Given the description of an element on the screen output the (x, y) to click on. 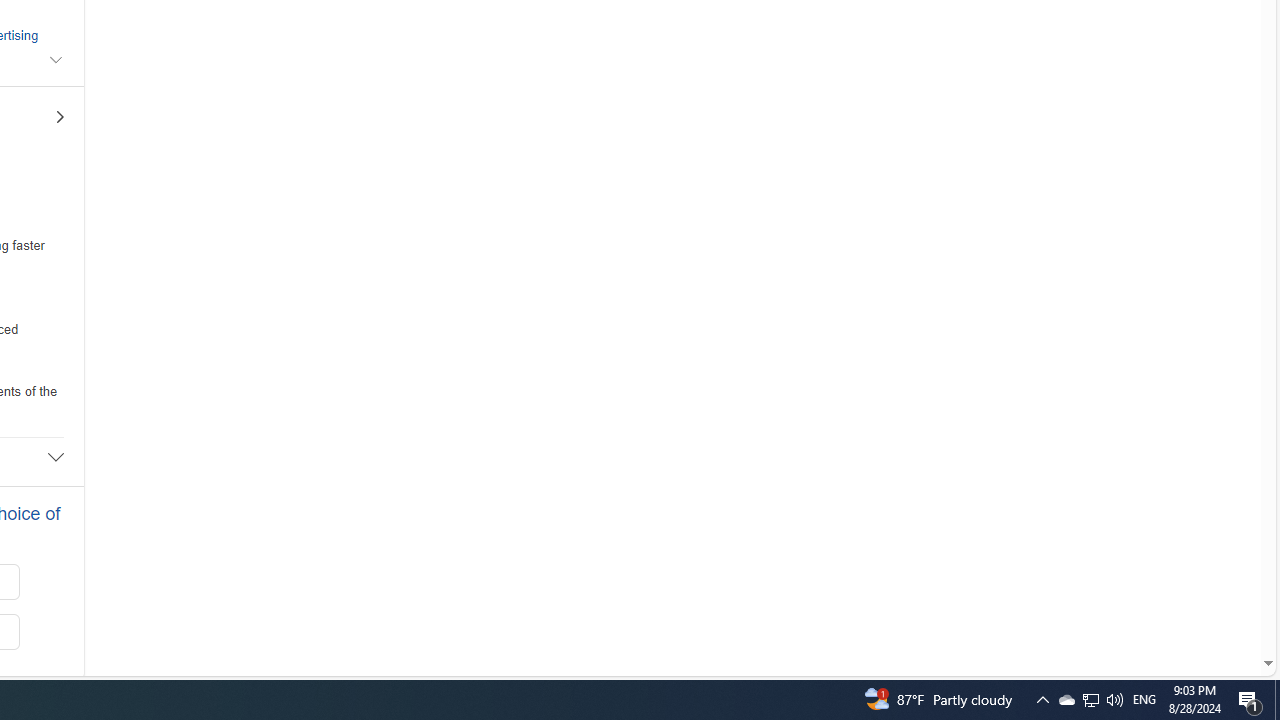
Search more (1222, 604)
AutomationID: mfa_root (1192, 603)
